Given the description of an element on the screen output the (x, y) to click on. 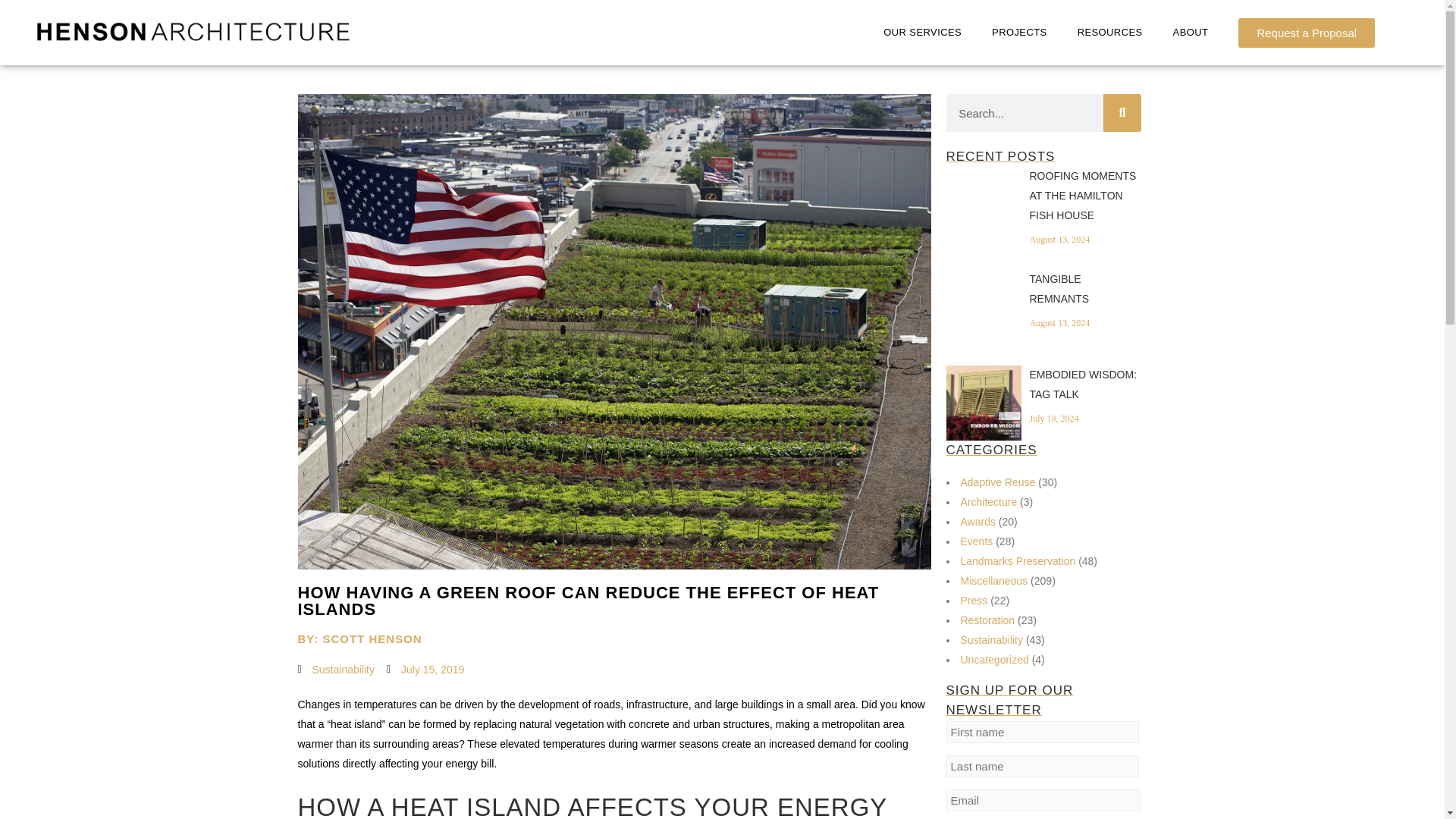
Request a Proposal (1306, 32)
ABOUT (1190, 32)
PROJECTS (1019, 32)
OUR SERVICES (921, 32)
Sustainability (344, 669)
RESOURCES (1109, 32)
July 15, 2019 (425, 669)
